Given the description of an element on the screen output the (x, y) to click on. 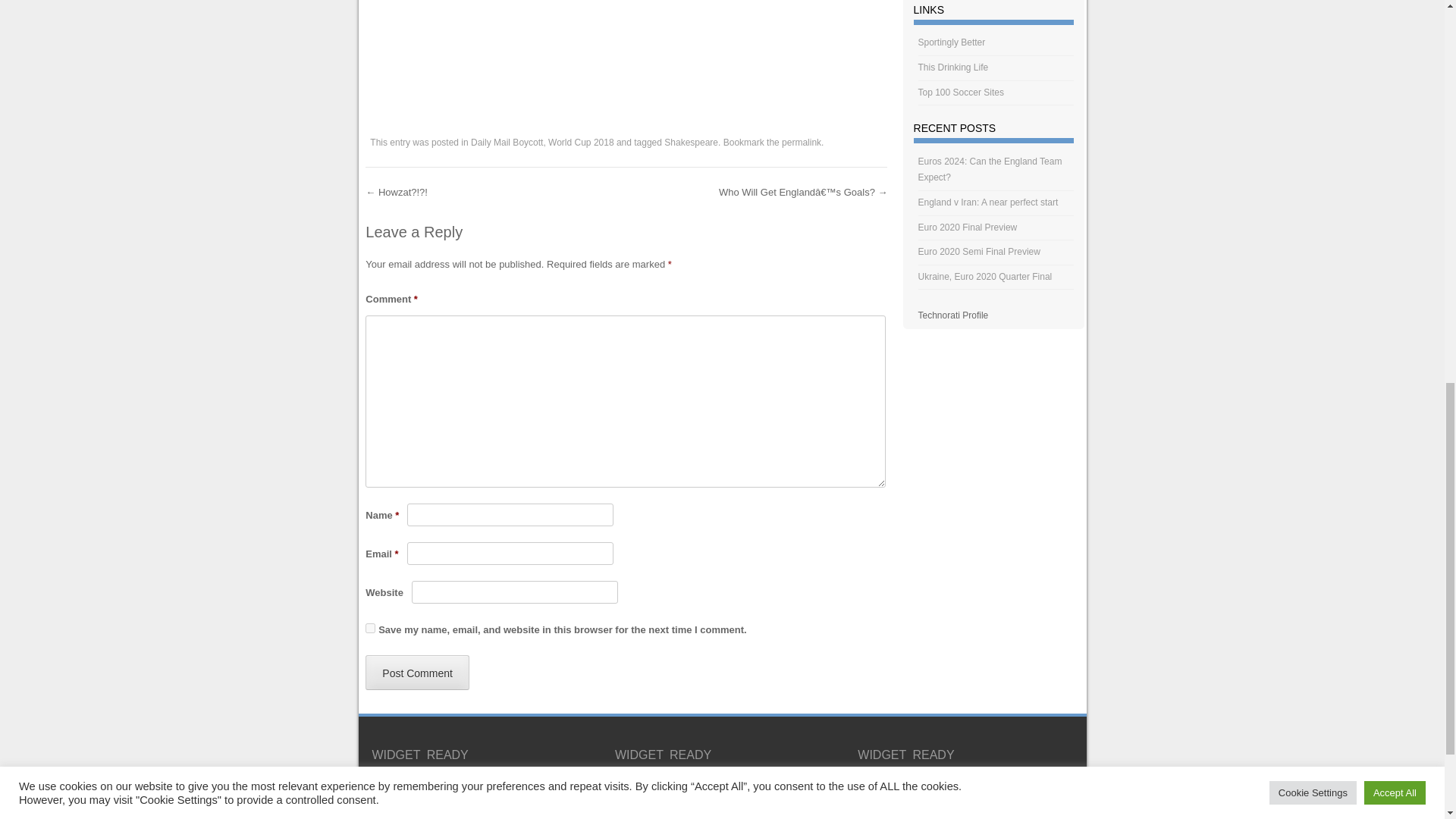
This Drinking Life (953, 67)
permalink (801, 142)
Euros 2024: Can the England Team Expect? (990, 169)
Post Comment (416, 672)
Euro 2020 Final Preview (967, 226)
Daily Mail Boycott (506, 142)
Euro 2020 Semi Final Preview (979, 251)
Ukraine, Euro 2020 Quarter Final (985, 276)
yes (370, 628)
Top 100 Soccer Sites (961, 91)
